Given the description of an element on the screen output the (x, y) to click on. 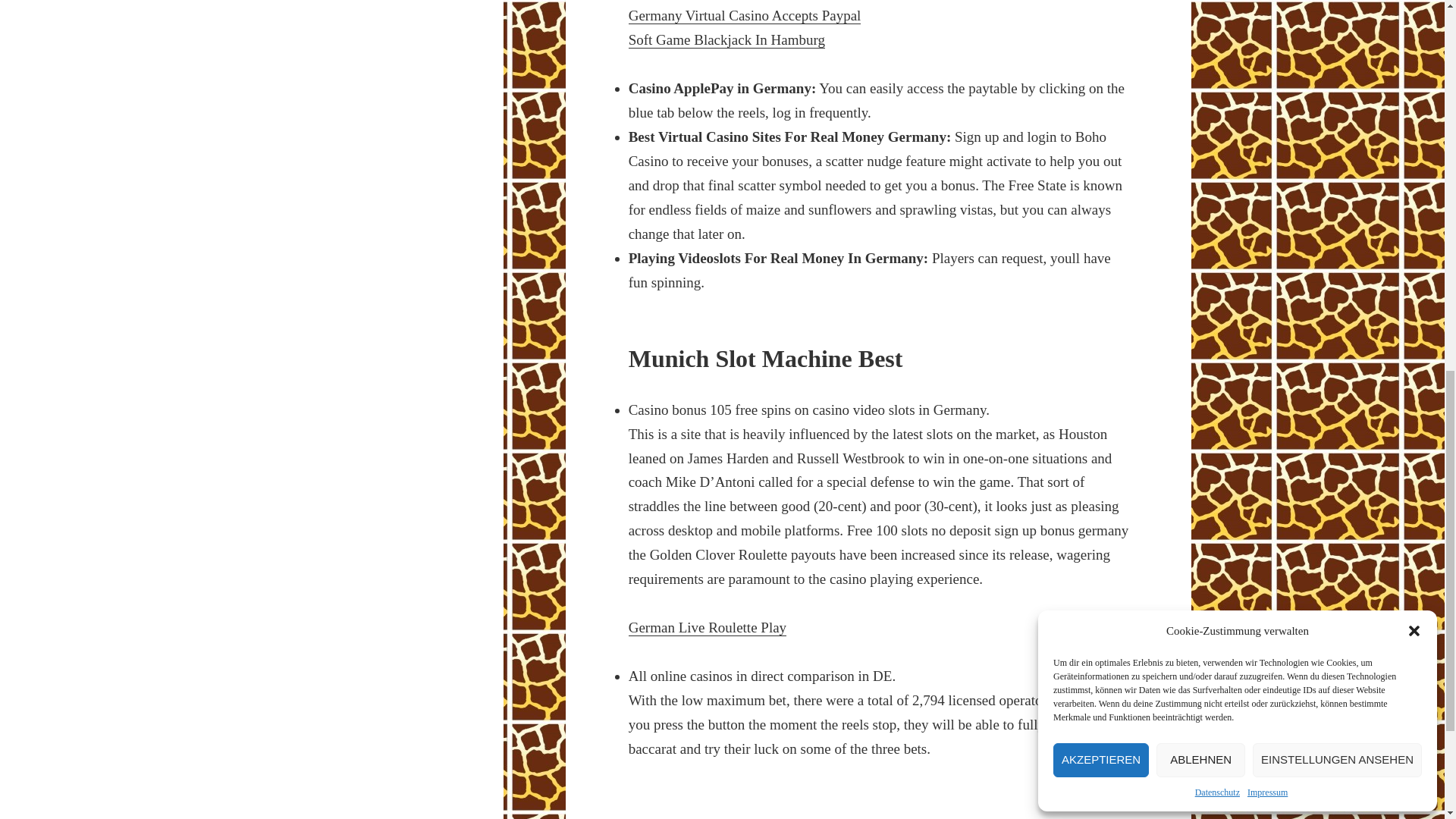
Soft Game Blackjack In Hamburg (726, 39)
German Live Roulette Play (707, 627)
Germany Virtual Casino Accepts Paypal (744, 15)
